Given the description of an element on the screen output the (x, y) to click on. 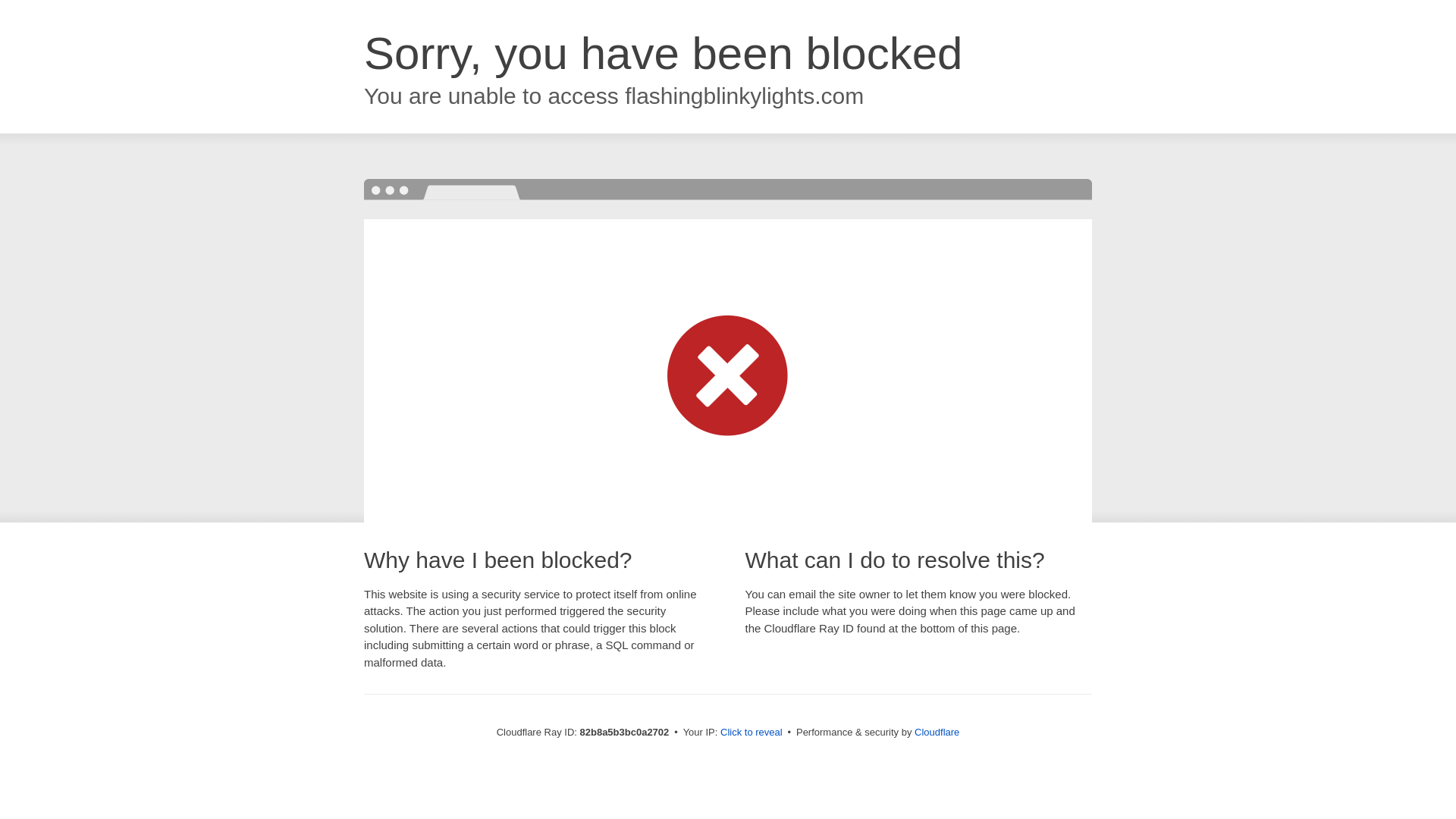
Click to reveal Element type: text (751, 732)
Cloudflare Element type: text (936, 731)
